Given the description of an element on the screen output the (x, y) to click on. 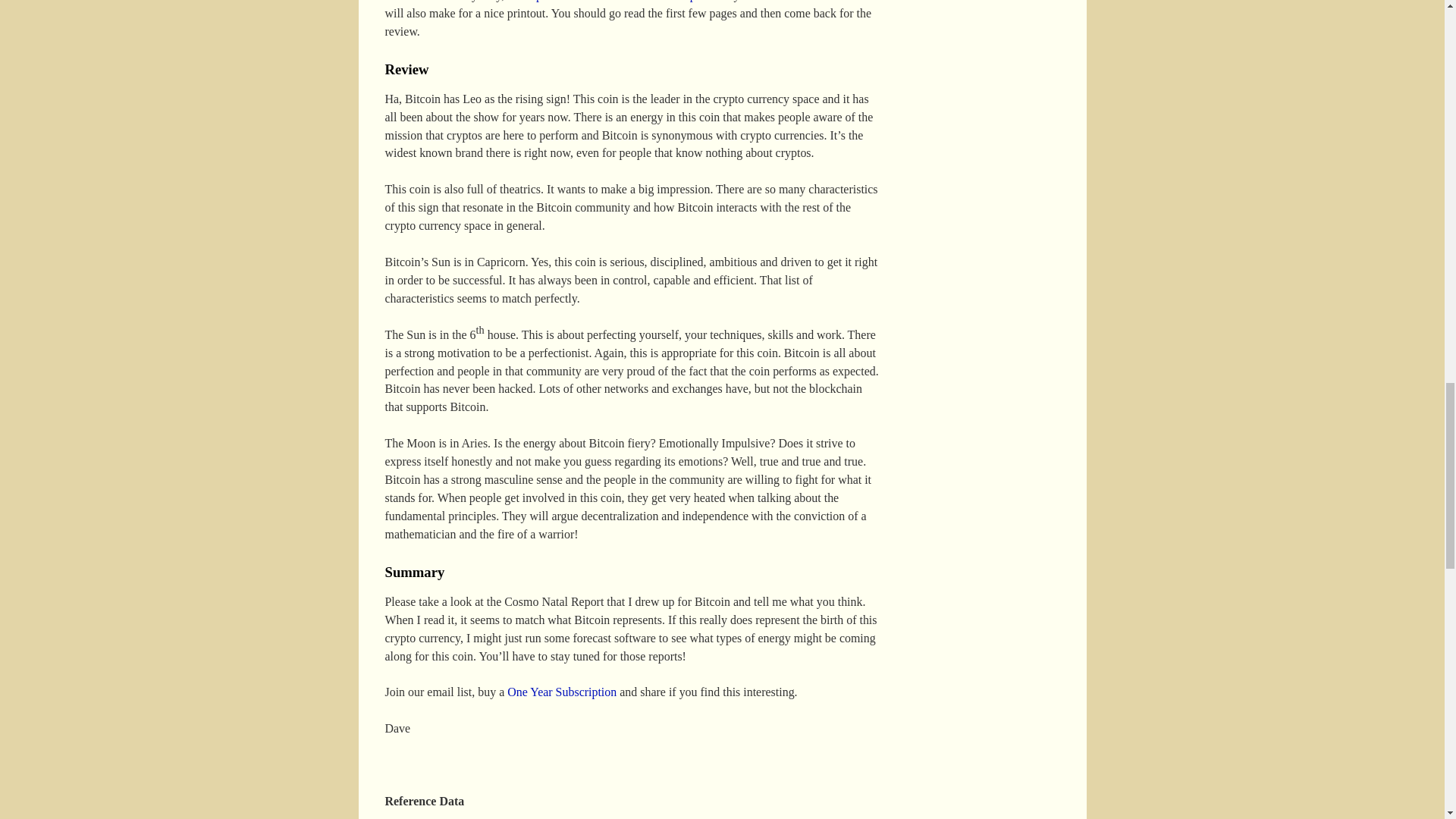
One Year Subscription (560, 691)
